Given the description of an element on the screen output the (x, y) to click on. 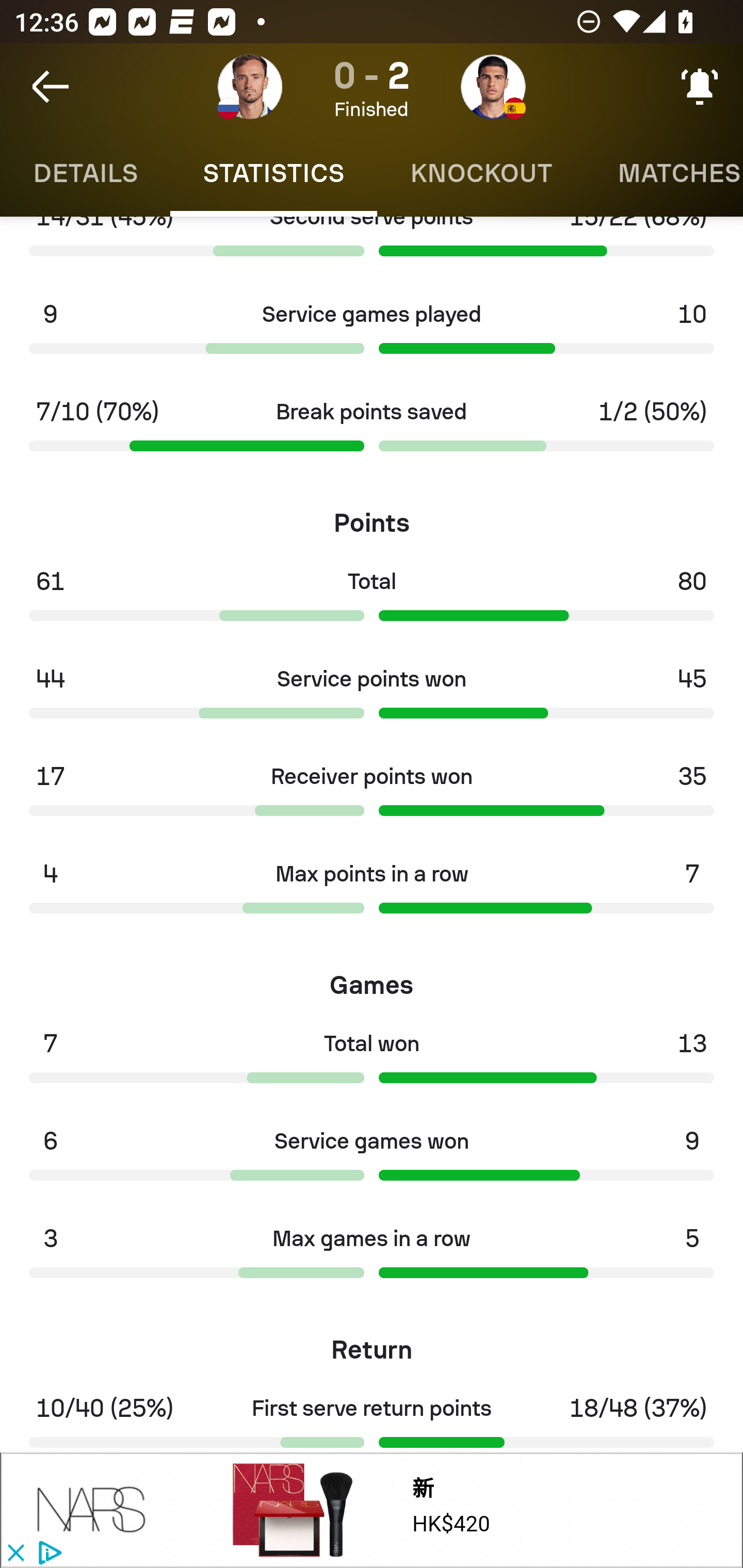
Navigate up (50, 86)
Details DETAILS (85, 173)
Knockout KNOCKOUT (480, 173)
Matches MATCHES (663, 173)
9 Service games played 10 473.0 526.0 (371, 333)
Points (371, 515)
61 Total 80 432.0 567.0 (371, 600)
44 Service points won 45 494.0 505.0 (371, 698)
17 Receiver points won 35 326.0 673.0 (371, 796)
4 Max points in a row 7 363.0 636.0 (371, 893)
Games (371, 978)
7 Total won 13 350.0 650.0 (371, 1062)
6 Service games won 9 400.0 600.0 (371, 1159)
3 Max games in a row 5 375.0 625.0 (371, 1257)
Return (371, 1343)
   (91, 1509)
close_button (14, 1553)
privacy_small (47, 1553)
